Given the description of an element on the screen output the (x, y) to click on. 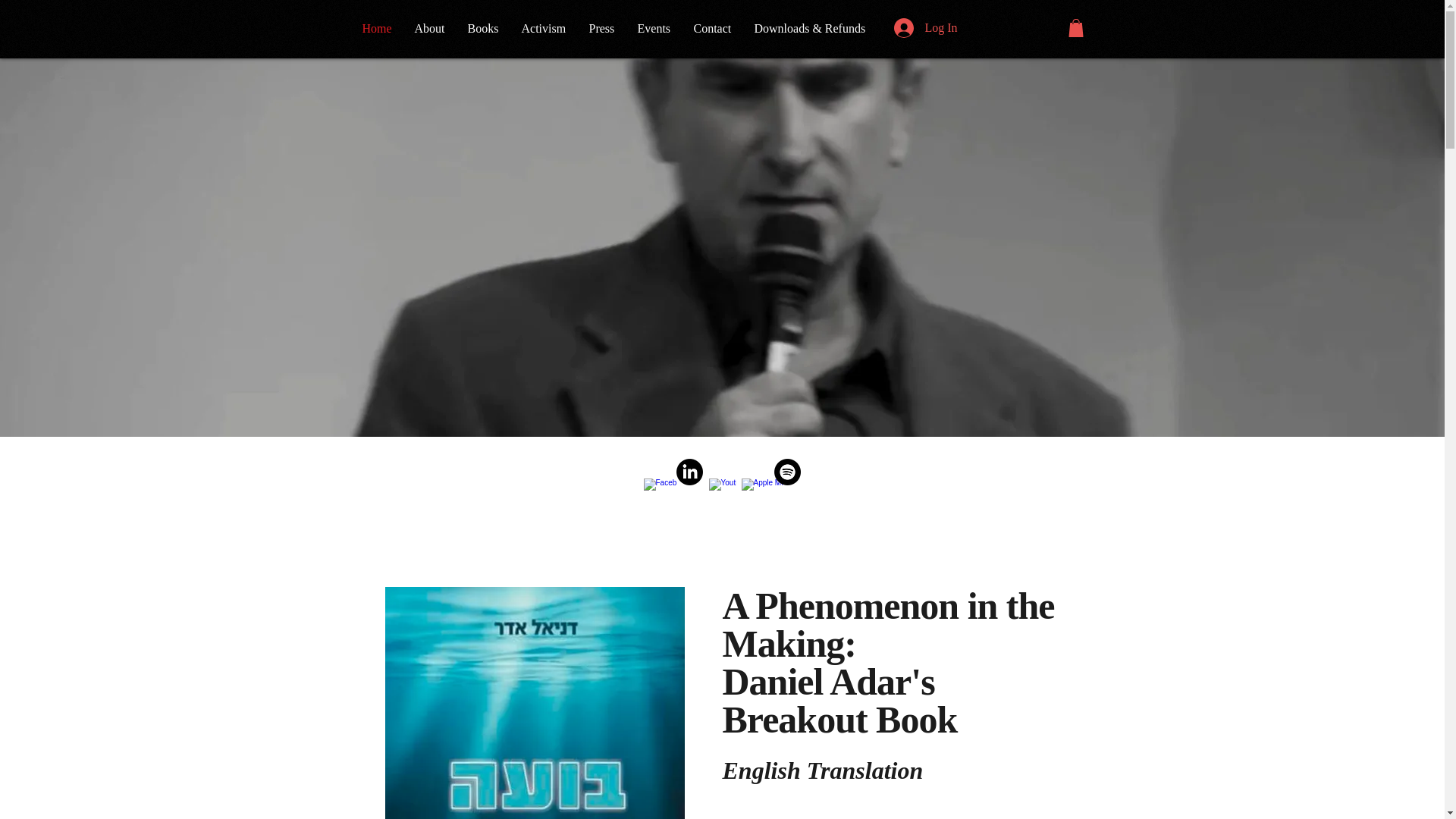
Events (654, 27)
Contact (712, 27)
Activism (542, 27)
Home (376, 27)
About (430, 27)
Log In (925, 27)
Press (602, 27)
Books (484, 27)
